Given the description of an element on the screen output the (x, y) to click on. 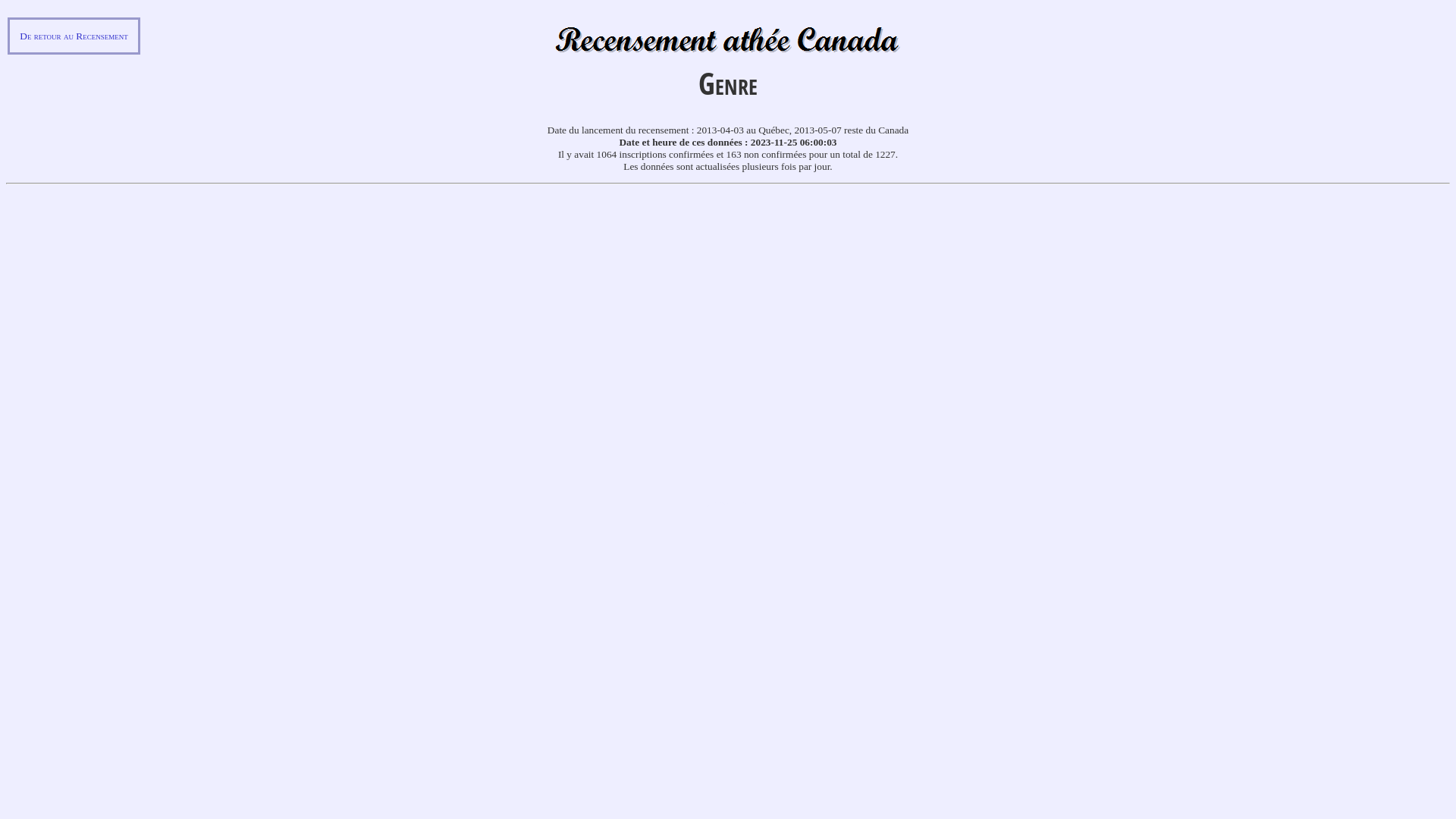
XHTML Element type: text (719, 504)
CSS Element type: text (742, 504)
De retour au Recensement Element type: text (73, 35)
